Given the description of an element on the screen output the (x, y) to click on. 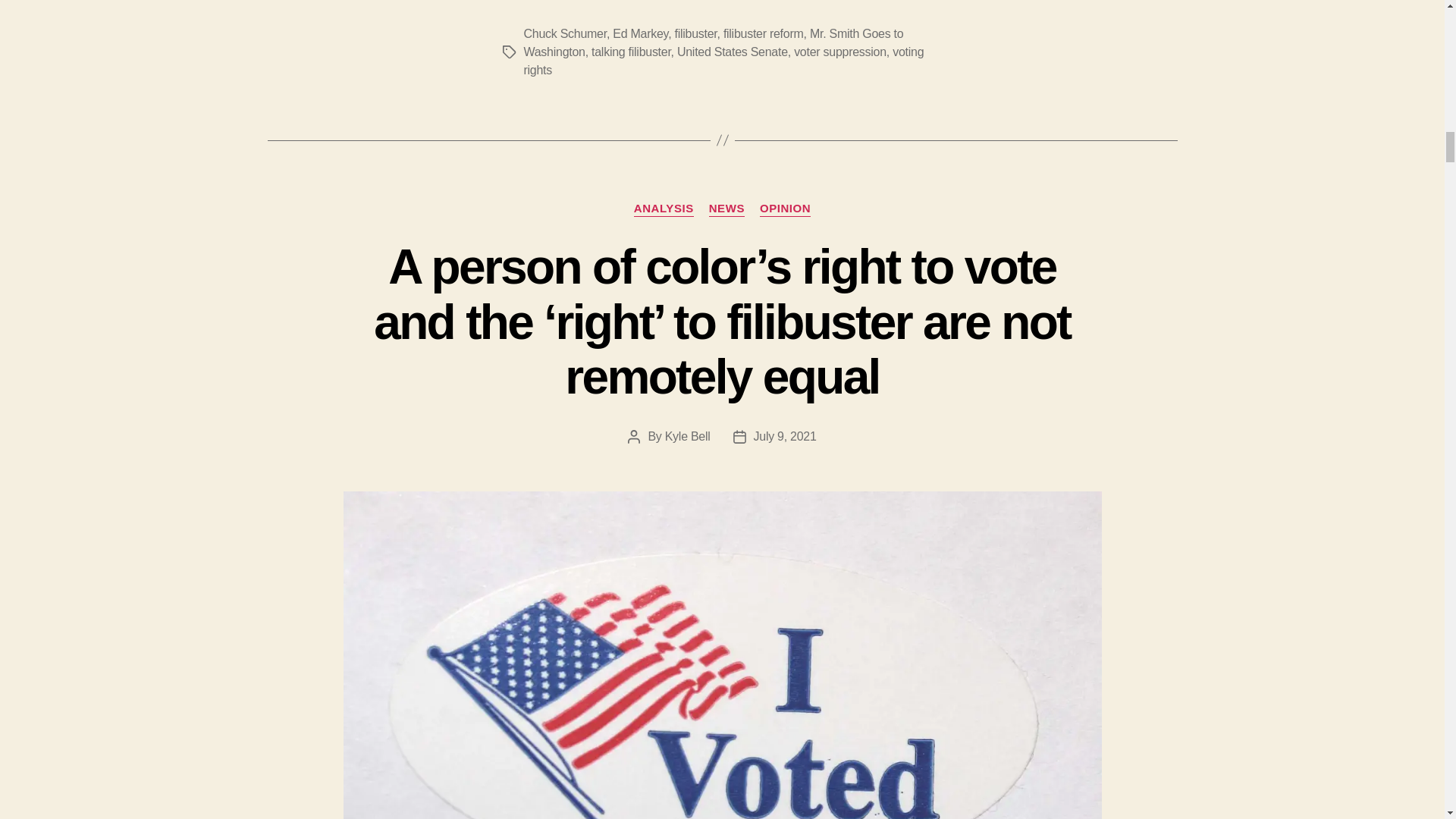
NEWS (726, 209)
OPINION (785, 209)
United States Senate (732, 51)
Mr. Smith Goes to Washington (712, 42)
Kyle Bell (687, 436)
Chuck Schumer (563, 33)
filibuster reform (763, 33)
filibuster (696, 33)
talking filibuster (631, 51)
July 9, 2021 (785, 436)
